Given the description of an element on the screen output the (x, y) to click on. 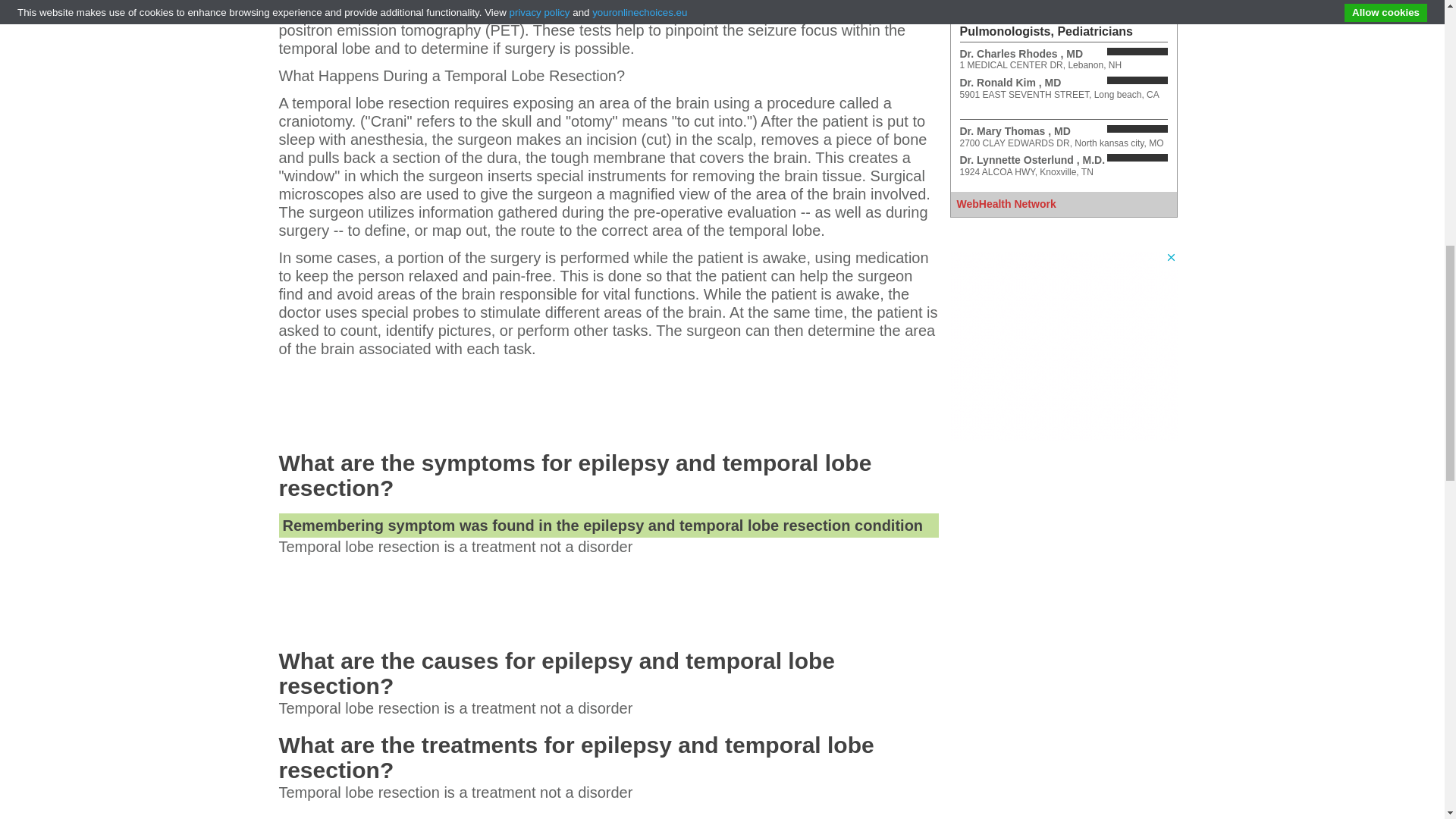
3rd party ad content (607, 400)
3rd party ad content (607, 599)
3rd party ad content (1062, 345)
